Given the description of an element on the screen output the (x, y) to click on. 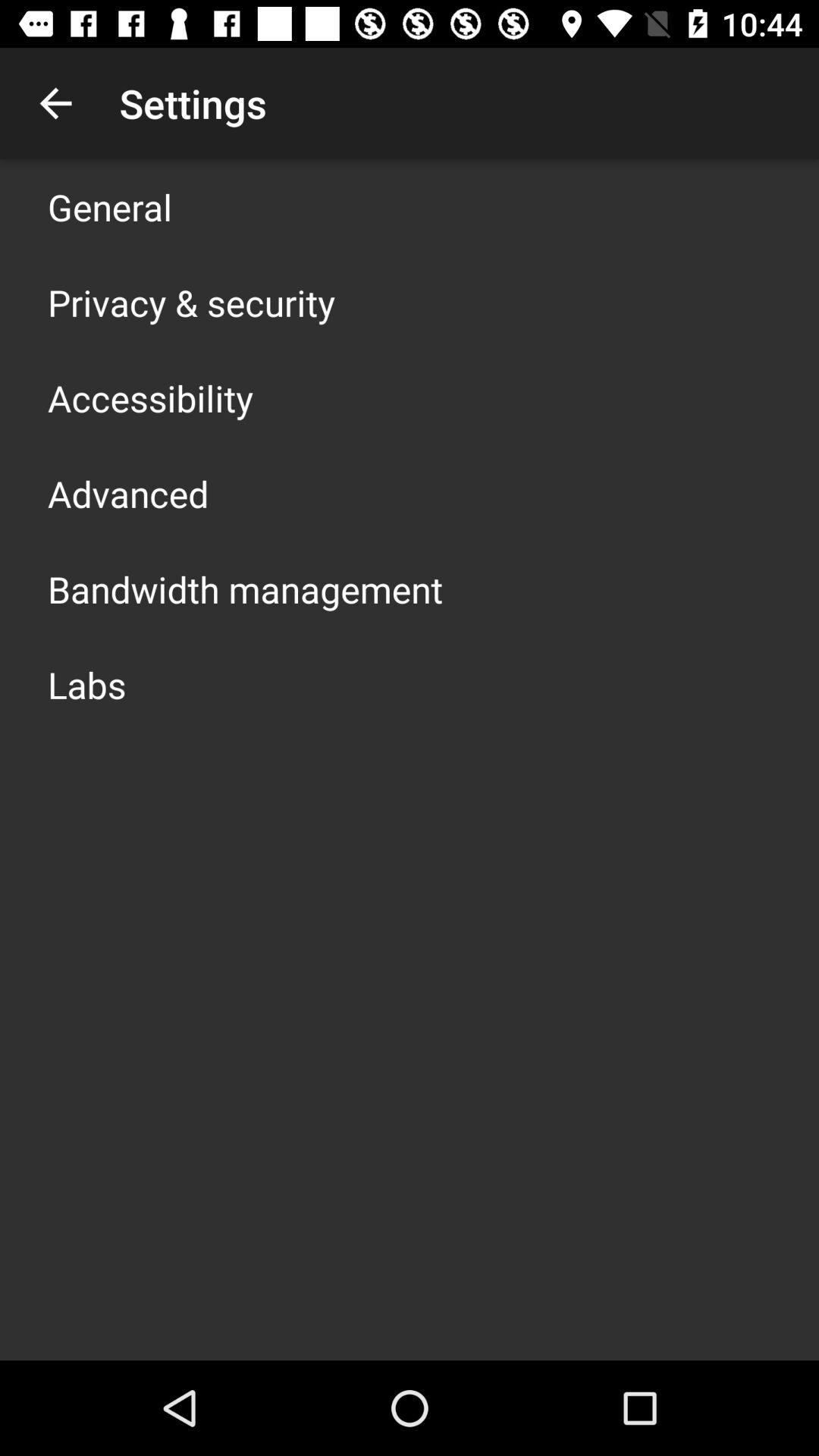
flip until bandwidth management item (245, 588)
